Given the description of an element on the screen output the (x, y) to click on. 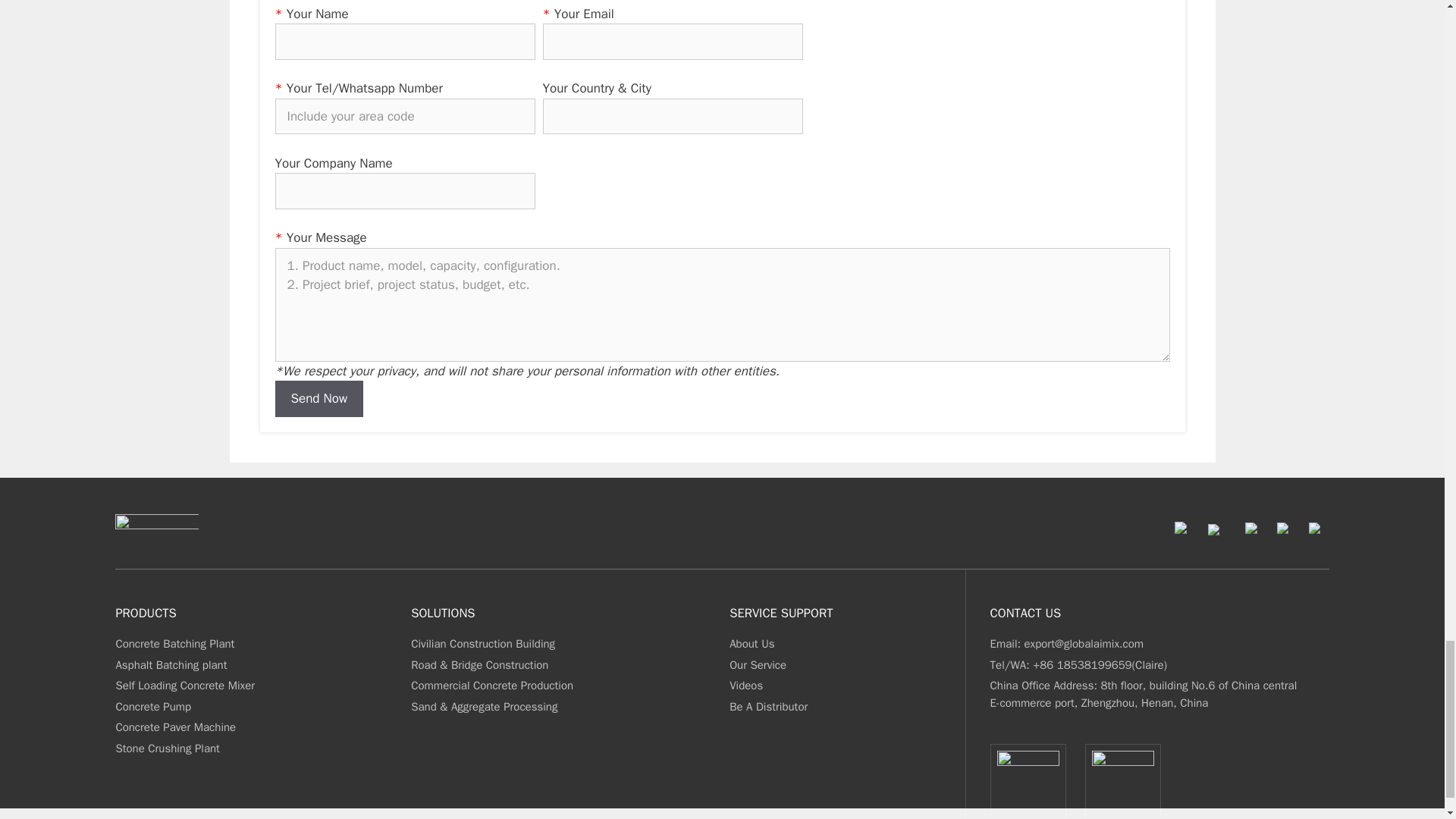
Send Now (318, 398)
